Given the description of an element on the screen output the (x, y) to click on. 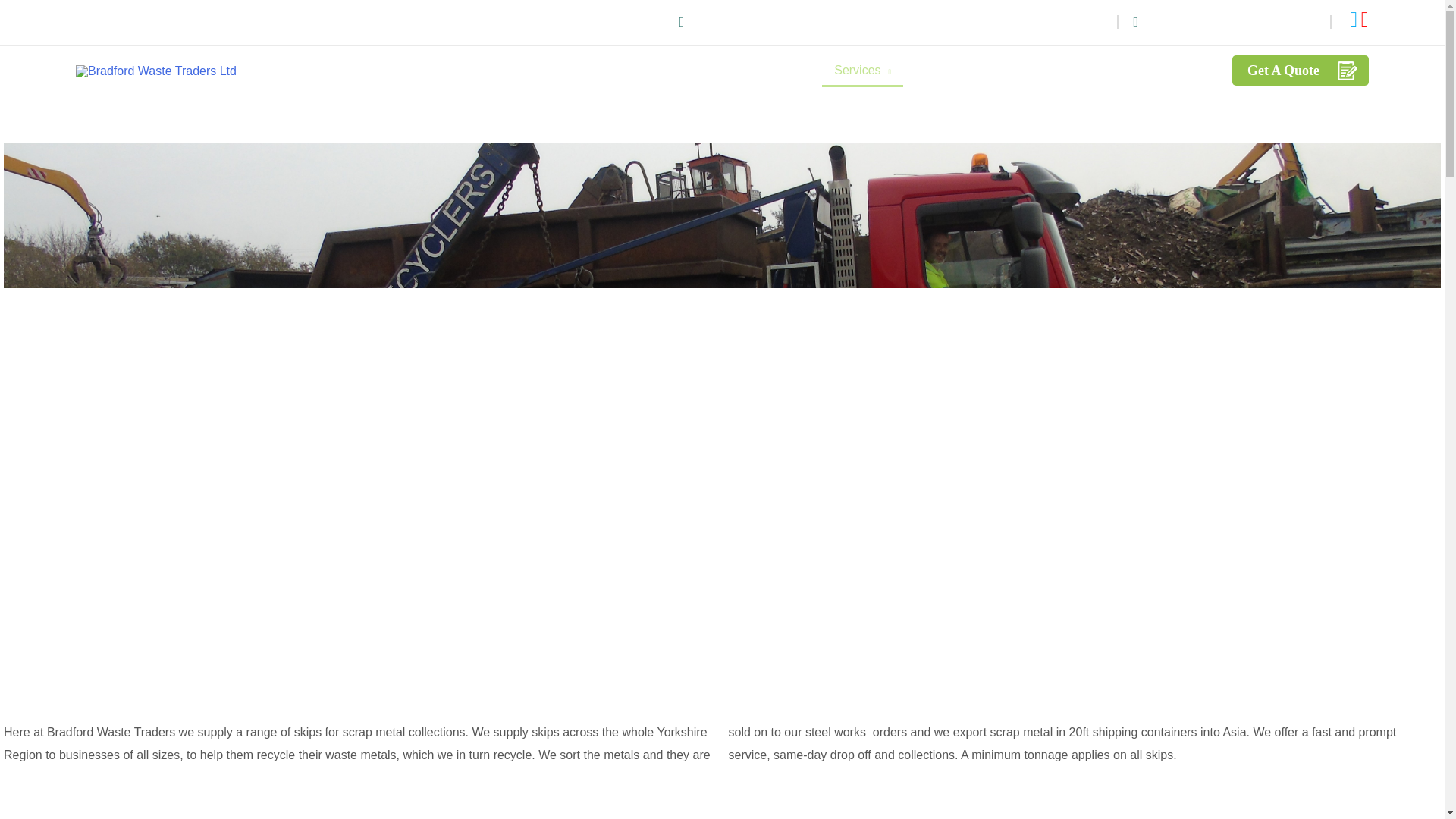
Licences (999, 70)
01274 726 033 (1273, 21)
News (1126, 70)
Contact (1187, 70)
Gallery (1067, 70)
Clients (932, 70)
Services (862, 70)
About Us (785, 70)
01274 724 151 (1186, 21)
Get A Quote (1299, 70)
Home (719, 70)
